Given the description of an element on the screen output the (x, y) to click on. 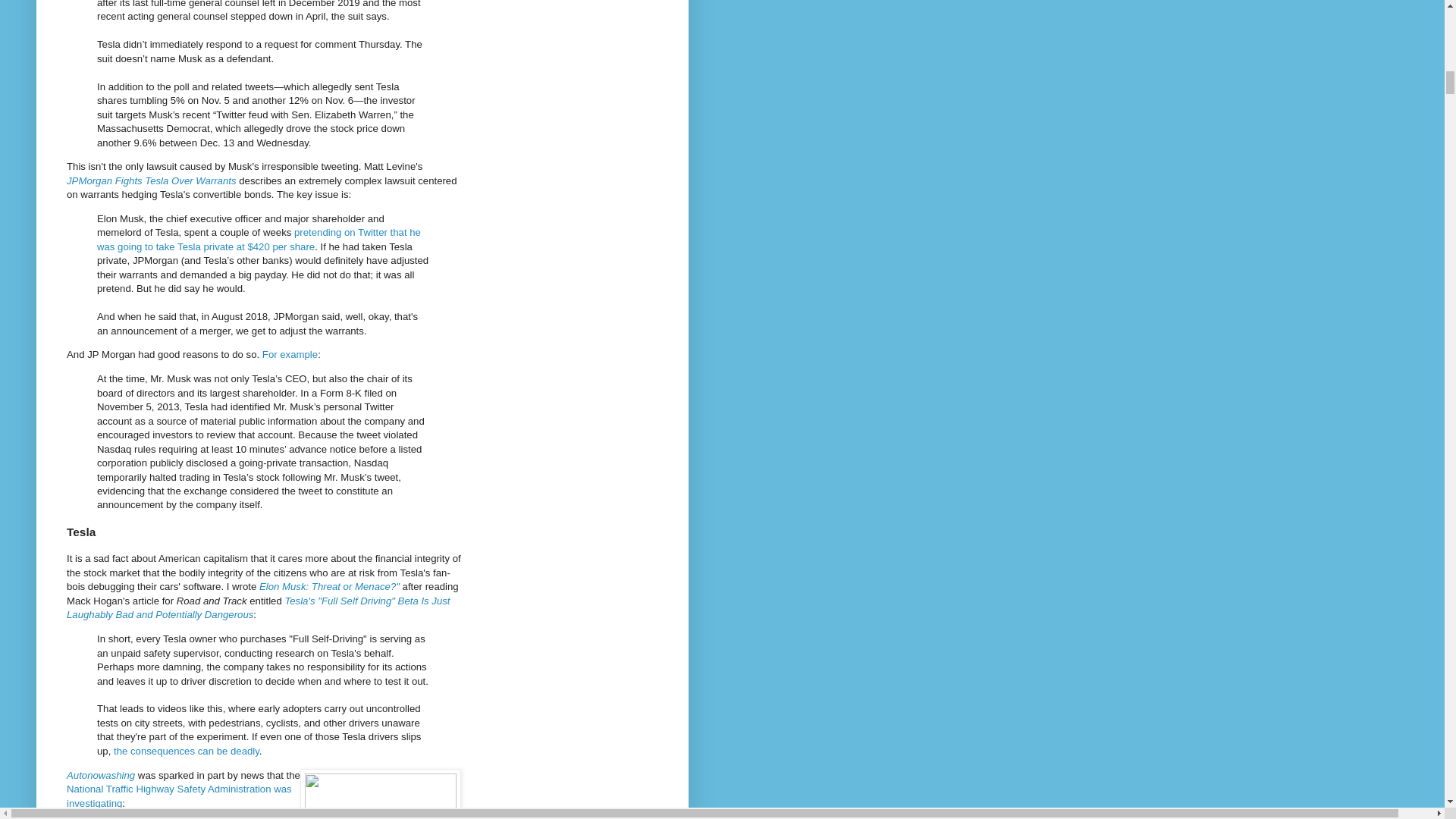
JPMorgan Fights Tesla Over Warrants (150, 180)
the consequences can be deadly (186, 750)
Autonowashing (100, 775)
Elon Musk: Threat or Menace?" (328, 586)
For example (289, 354)
